Given the description of an element on the screen output the (x, y) to click on. 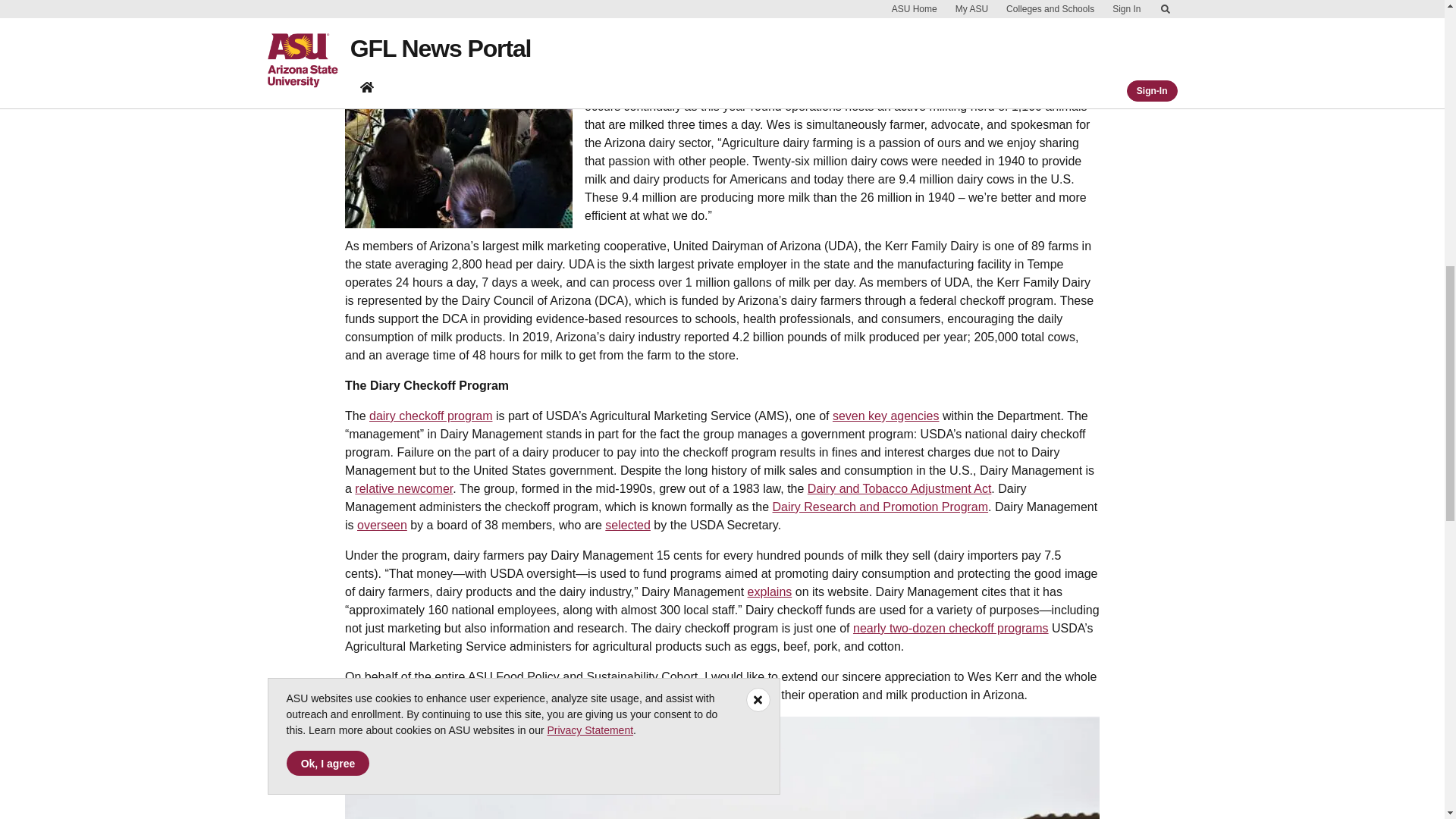
explains (770, 591)
dairy checkoff program (430, 415)
Dairy and Tobacco Adjustment Act (899, 488)
selected (627, 524)
overseen (381, 524)
Dairy Research and Promotion Program (880, 506)
relative newcomer (403, 488)
nearly two-dozen checkoff programs (950, 627)
seven key agencies (885, 415)
